Given the description of an element on the screen output the (x, y) to click on. 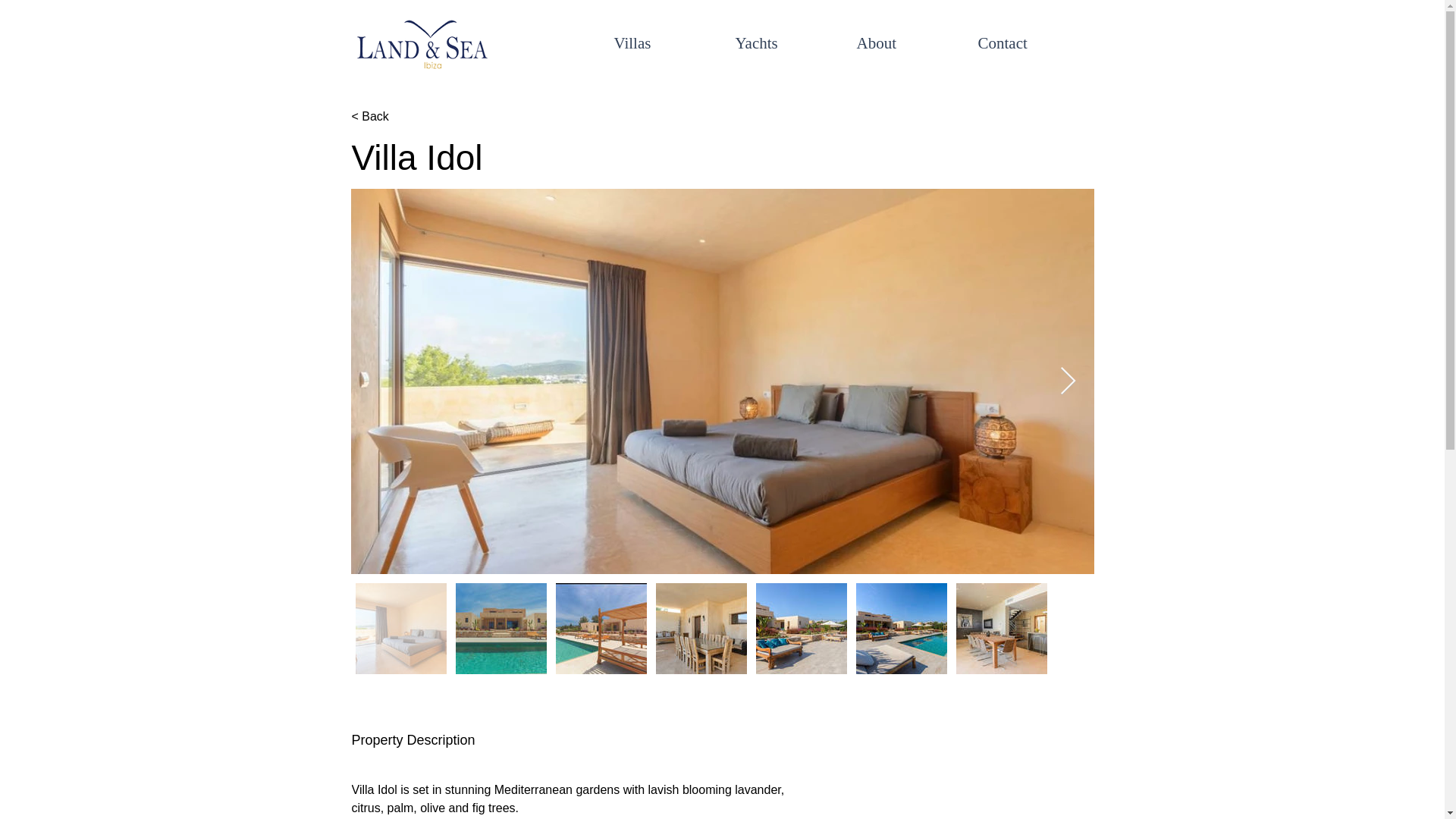
Contact (1026, 43)
About (905, 43)
Yachts (783, 43)
Villas (662, 43)
